Given the description of an element on the screen output the (x, y) to click on. 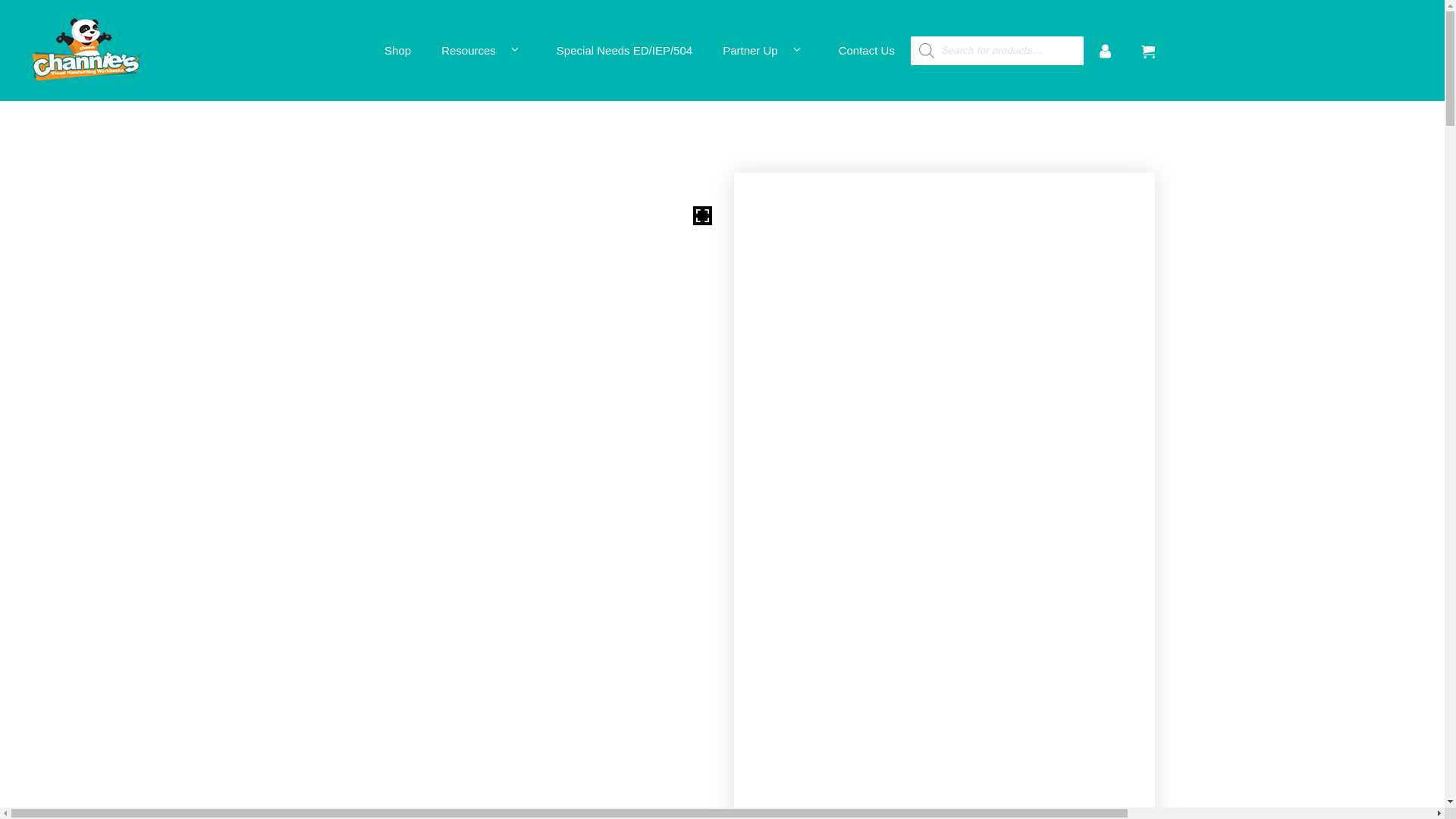
Resources (483, 49)
Contact Us (867, 49)
Shop (397, 49)
Full Screen (702, 215)
Partner Up (765, 49)
Cart (1147, 49)
Account (1104, 49)
